Given the description of an element on the screen output the (x, y) to click on. 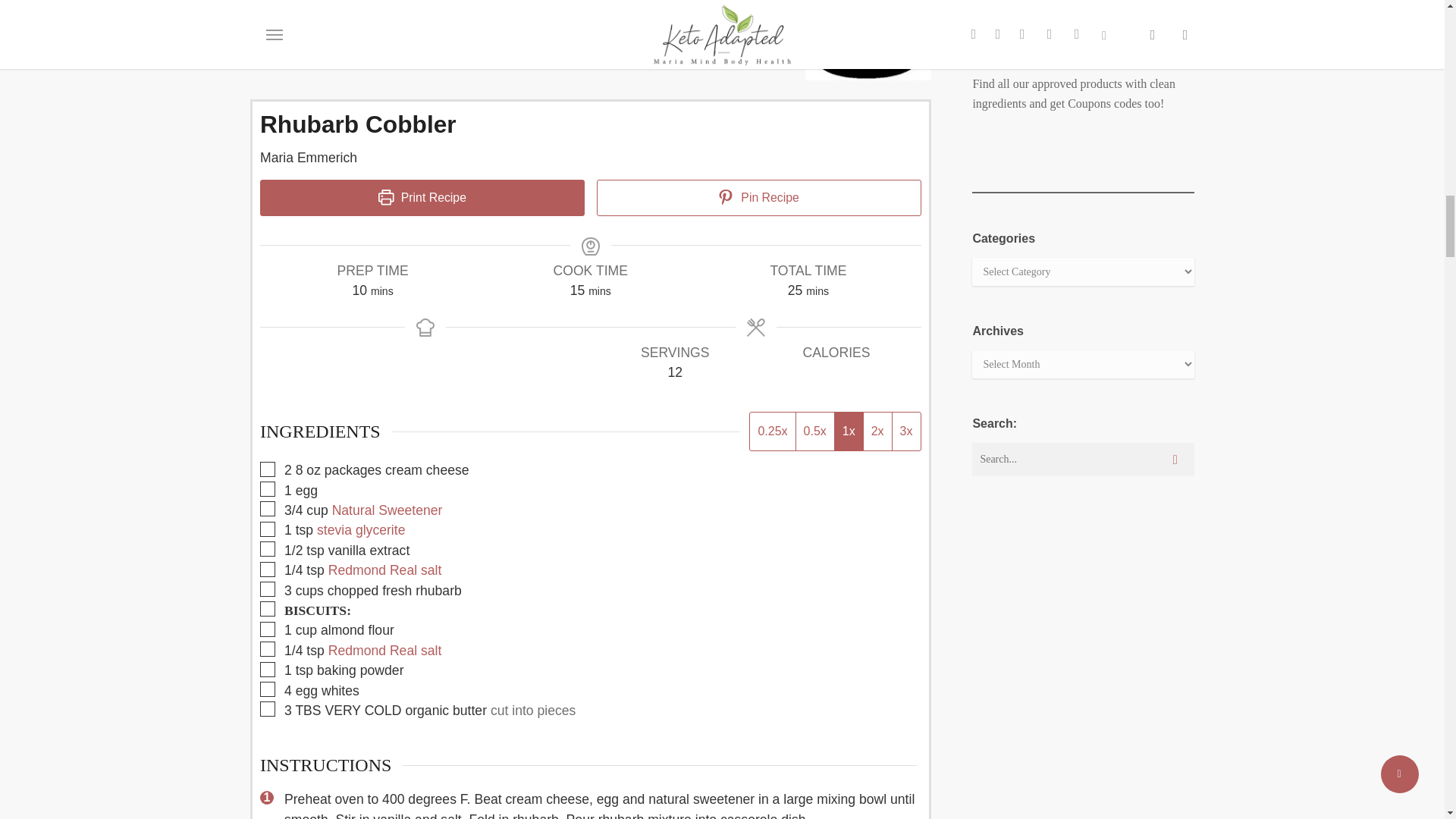
Natural Sweetener (386, 509)
Redmond Real salt (385, 570)
stevia glycerite (360, 529)
0.25x (771, 431)
Print Recipe (422, 197)
Search for: (1082, 459)
Pin Recipe (758, 197)
0.5x (814, 431)
